Given the description of an element on the screen output the (x, y) to click on. 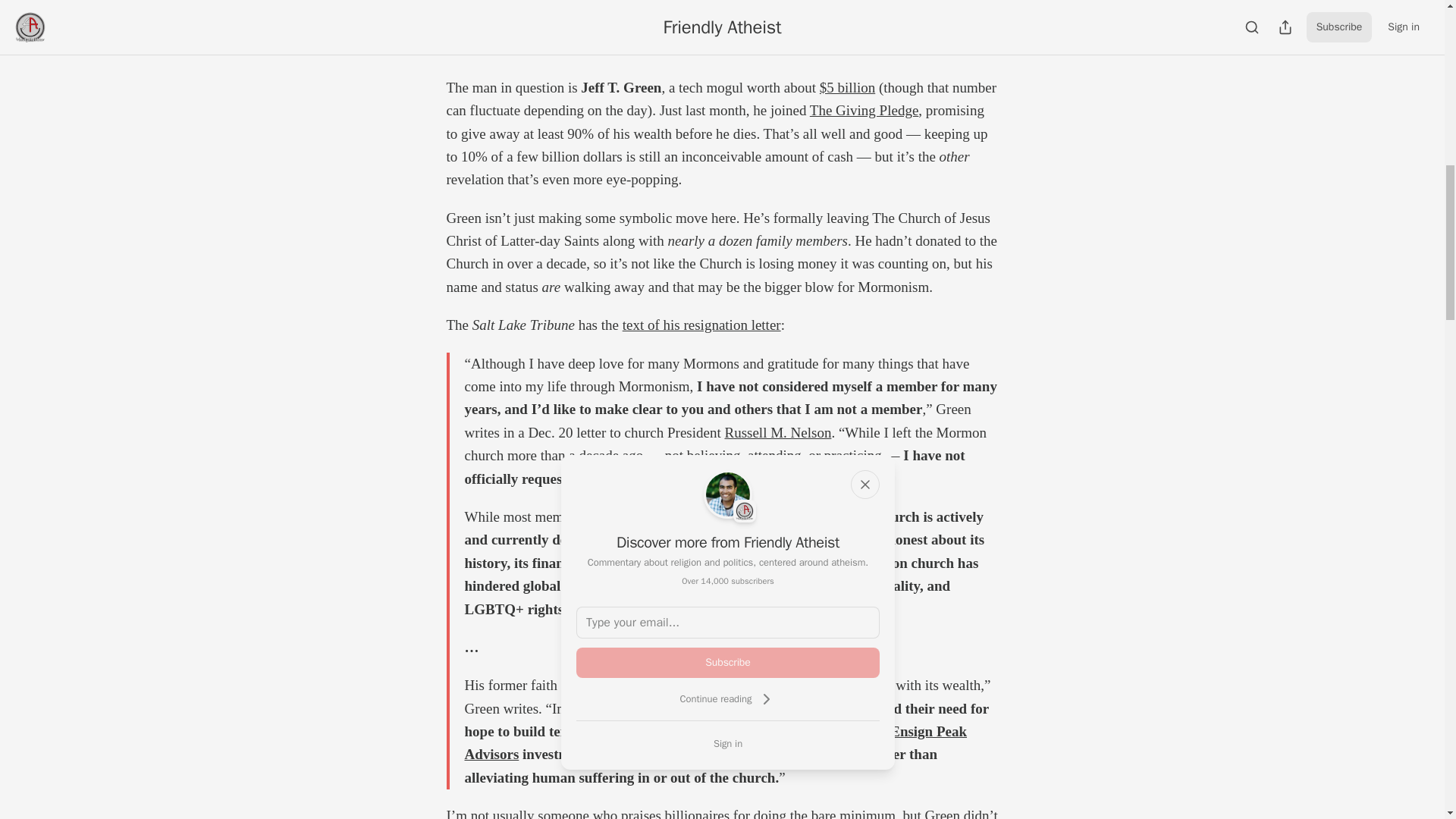
text of his resignation letter (701, 324)
The Giving Pledge (863, 109)
shopping malls (685, 731)
Russell M. Nelson (777, 432)
Sign in (727, 743)
Ensign Peak Advisors (715, 742)
Subscribe (727, 662)
